Given the description of an element on the screen output the (x, y) to click on. 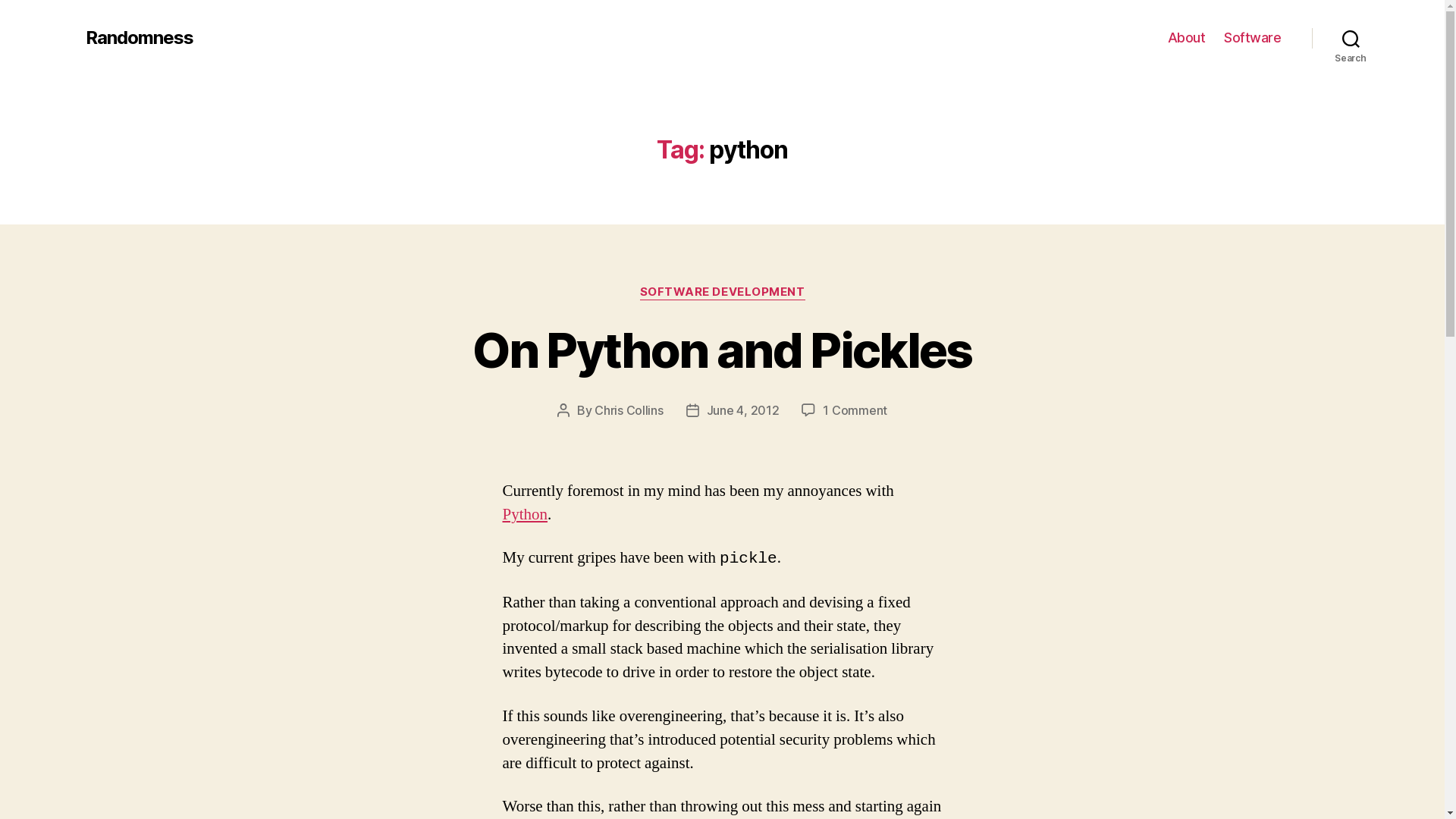
On Python and Pickles Element type: text (721, 349)
About Element type: text (1186, 37)
Software Element type: text (1251, 37)
Search Element type: text (1350, 37)
Randomness Element type: text (138, 37)
1 Comment
on On Python and Pickles Element type: text (854, 409)
Chris Collins Element type: text (628, 409)
June 4, 2012 Element type: text (742, 409)
Python Element type: text (524, 514)
SOFTWARE DEVELOPMENT Element type: text (722, 292)
